Given the description of an element on the screen output the (x, y) to click on. 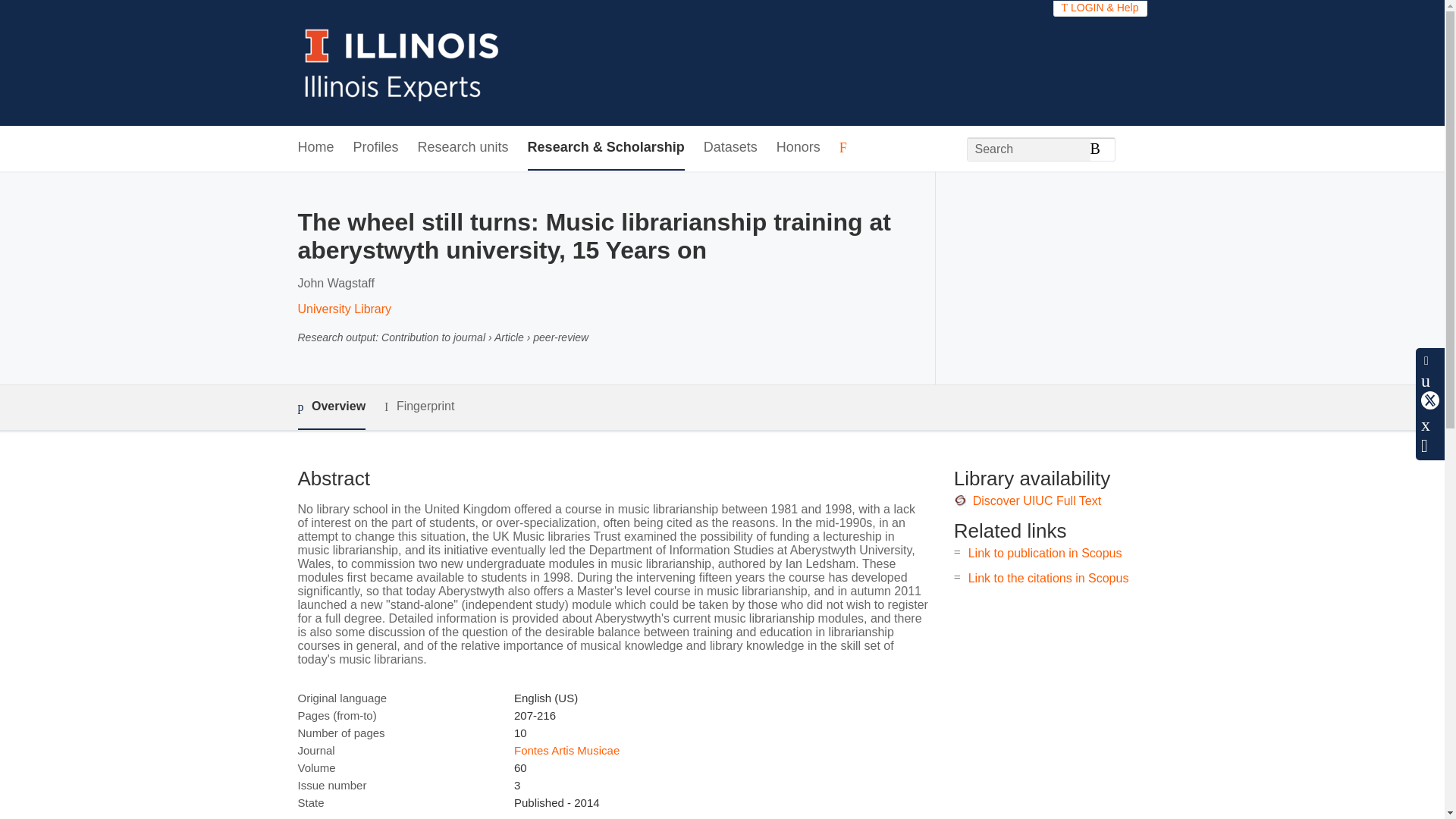
Fontes Artis Musicae (566, 749)
University of Illinois Urbana-Champaign Home (402, 62)
Datasets (730, 148)
Overview (331, 406)
Discover UIUC Full Text (1037, 500)
Research units (462, 148)
Link to the citations in Scopus (1048, 577)
Link to publication in Scopus (1045, 553)
University Library (344, 308)
